Given the description of an element on the screen output the (x, y) to click on. 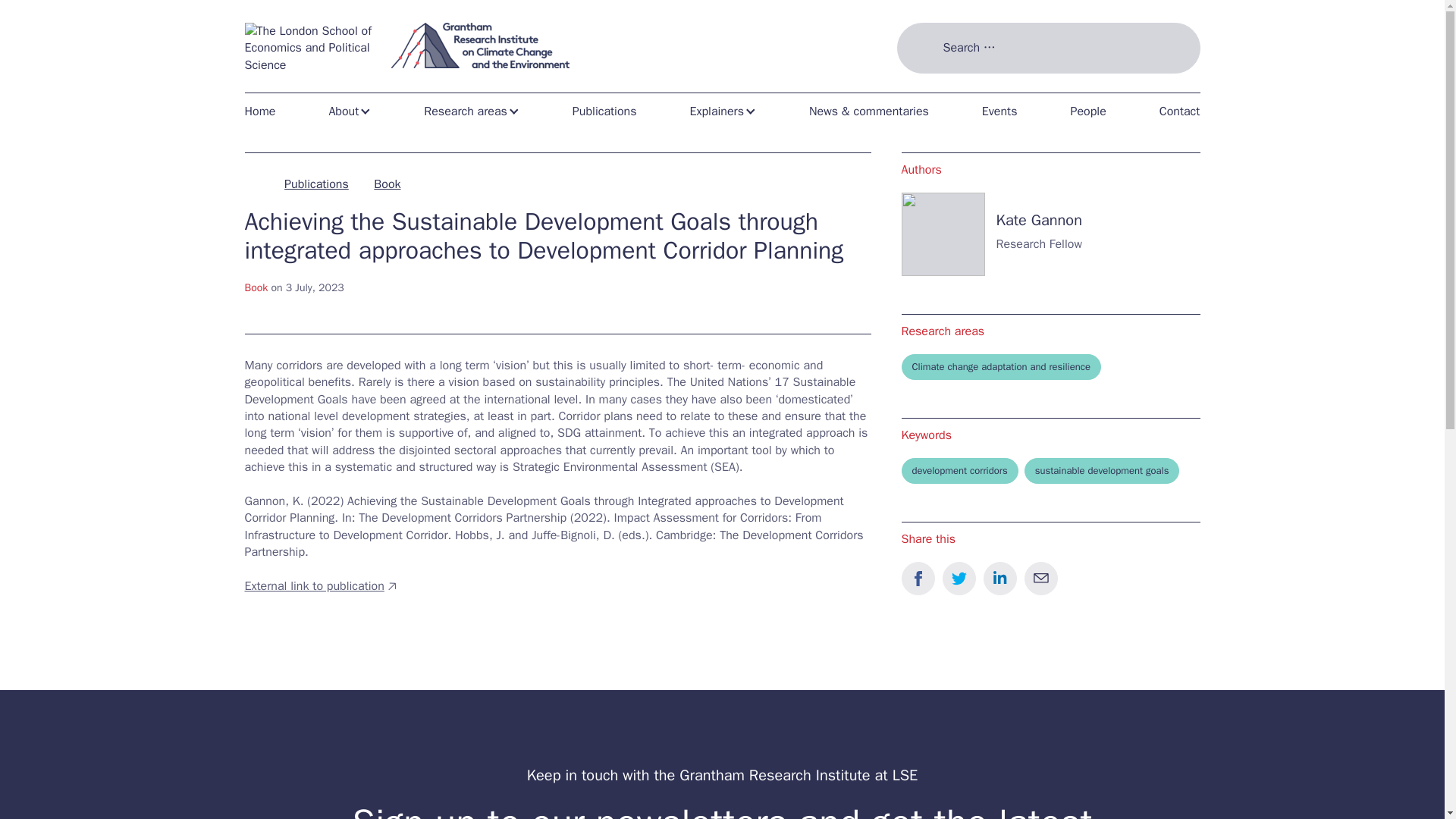
Publications (604, 110)
Home (265, 110)
Home (265, 110)
Research areas (471, 110)
Research areas (471, 110)
Search (922, 86)
About (348, 110)
Search (922, 86)
Explainers (722, 110)
Search (922, 86)
Explainers (722, 110)
